Given the description of an element on the screen output the (x, y) to click on. 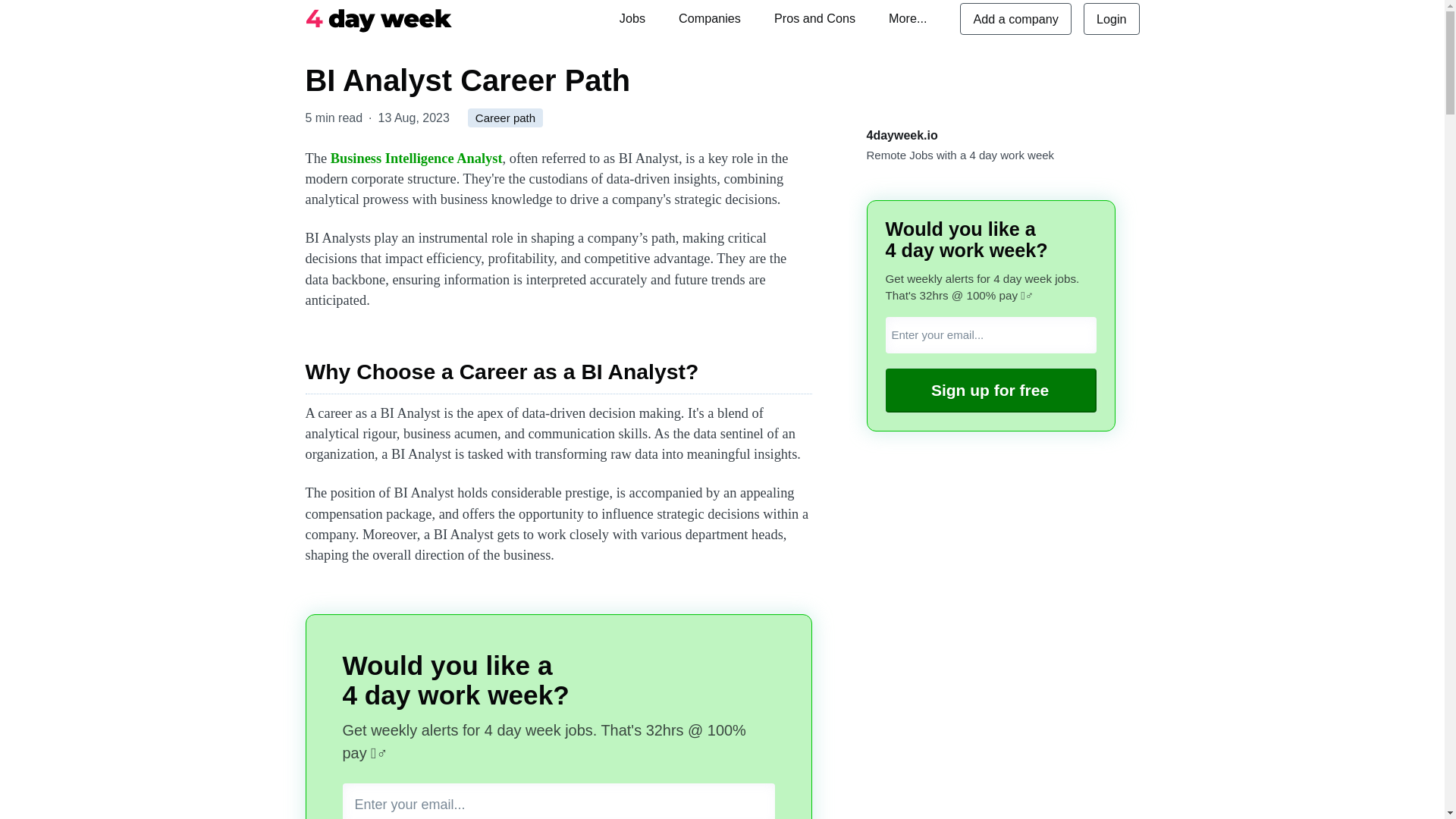
More... (907, 18)
Pros and Cons (814, 18)
Companies (709, 18)
Jobs (632, 18)
